Given the description of an element on the screen output the (x, y) to click on. 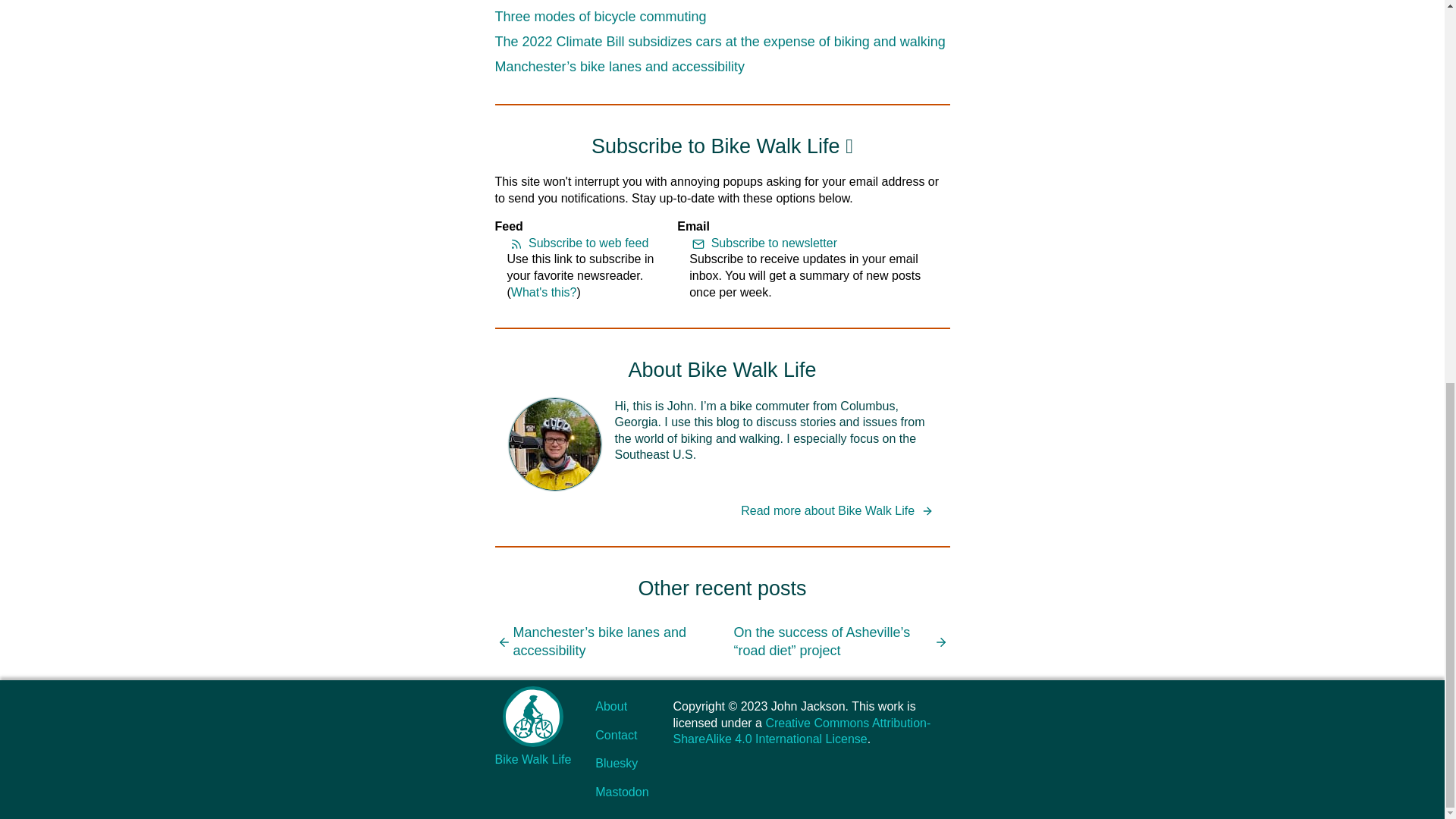
Three modes of bicycle commuting (600, 16)
Mastodon (621, 791)
Bluesky (616, 762)
Read more about Bike Walk Life (838, 510)
Contact (616, 735)
Subscribe to newsletter (762, 242)
About (611, 706)
Subscribe to web feed (576, 242)
Bike Walk Life (532, 726)
What's this? (543, 291)
